Given the description of an element on the screen output the (x, y) to click on. 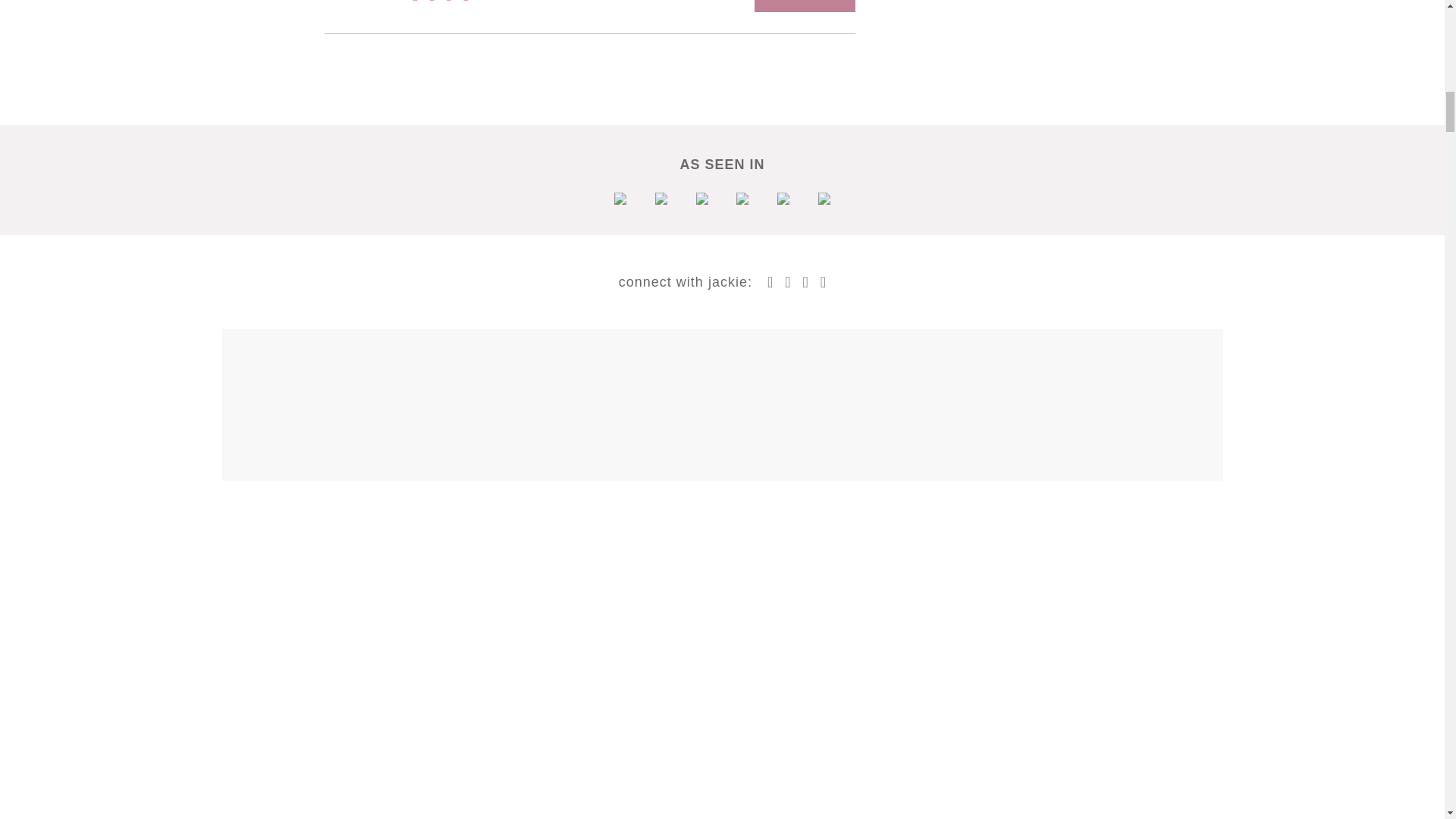
Share on Pinterest (448, 3)
Share on Facebook (415, 3)
Share via E-mail (465, 3)
Share on Twitter (431, 3)
